Given the description of an element on the screen output the (x, y) to click on. 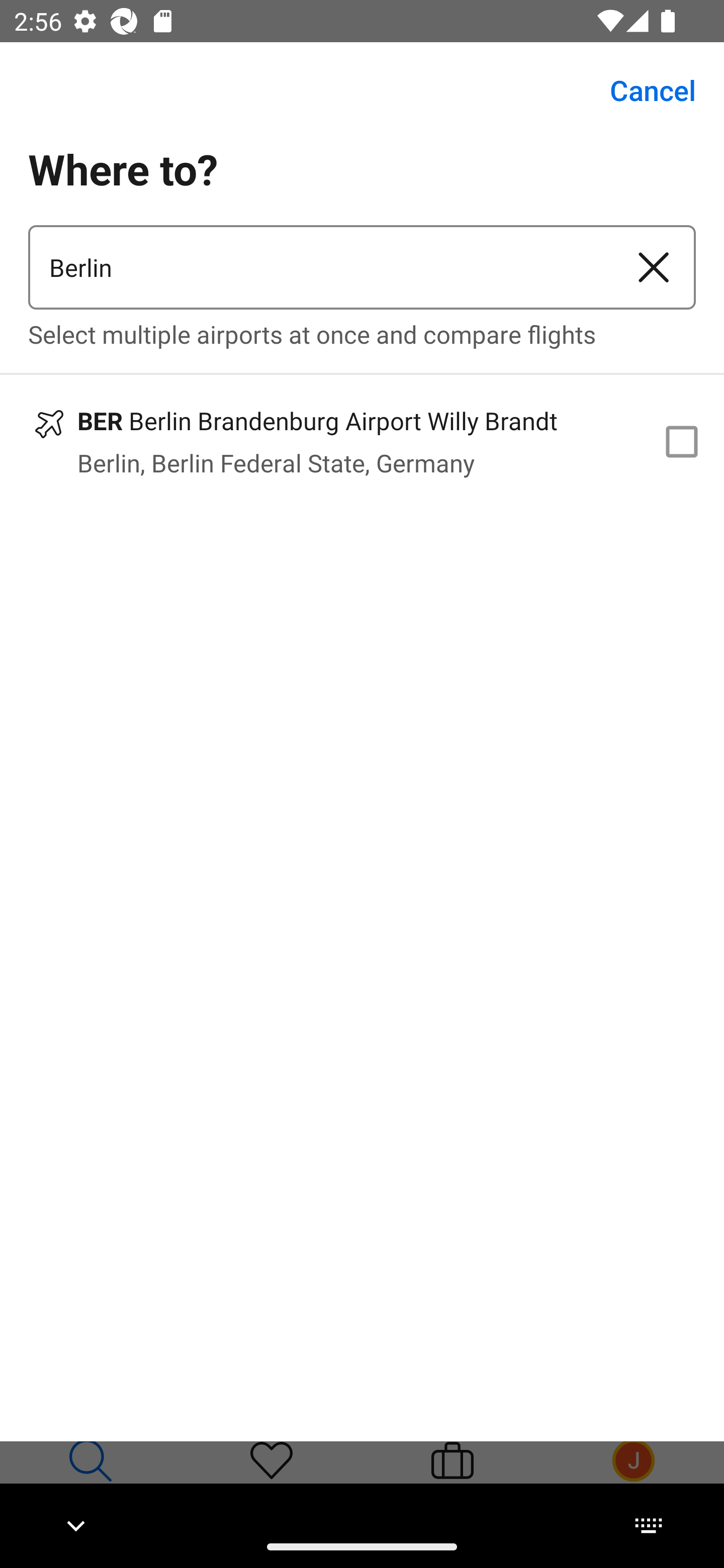
Cancel (641, 90)
Berlin (319, 266)
Clear airport or city (653, 266)
